Given the description of an element on the screen output the (x, y) to click on. 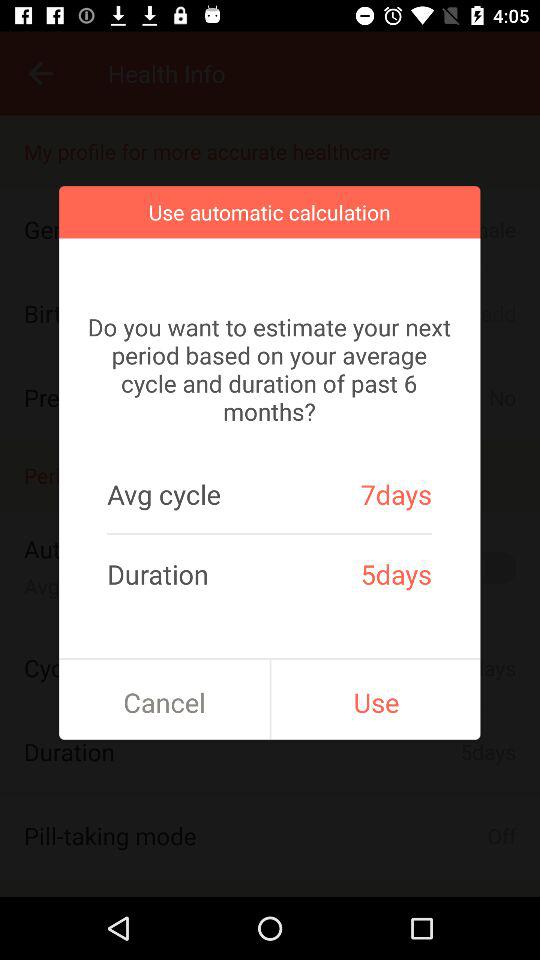
flip until the cancel (164, 702)
